Given the description of an element on the screen output the (x, y) to click on. 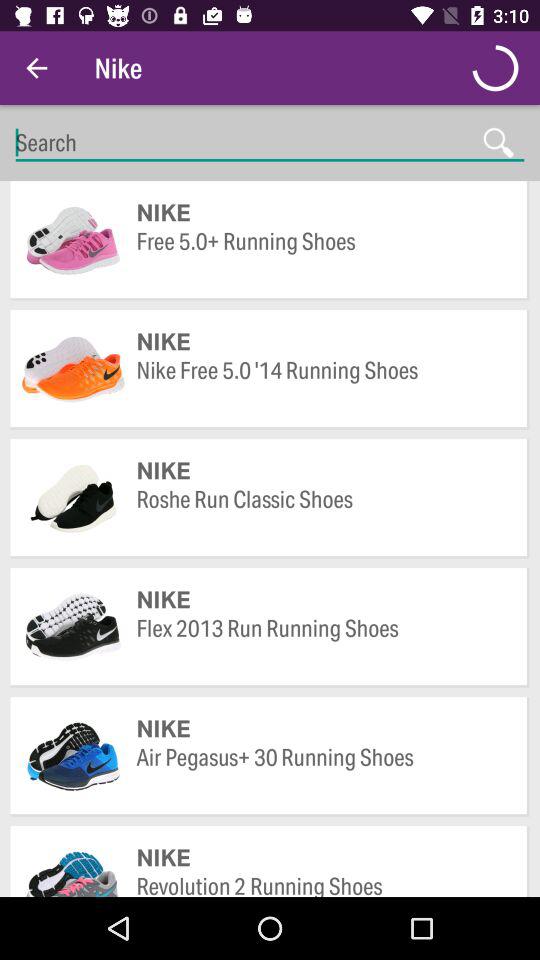
jump until the flex 2013 run icon (322, 642)
